Given the description of an element on the screen output the (x, y) to click on. 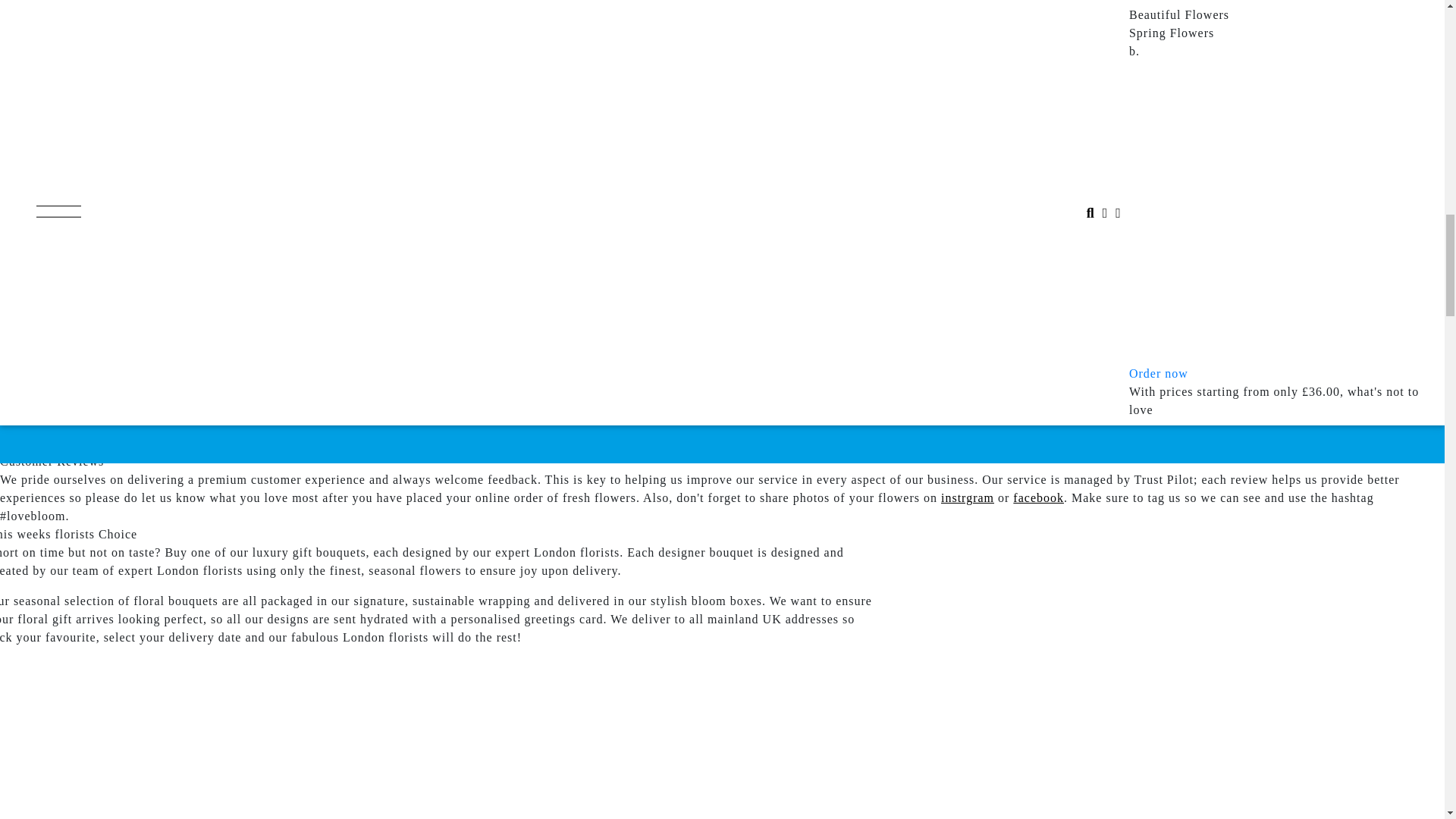
facebook (1038, 497)
instrgram (967, 497)
